Given the description of an element on the screen output the (x, y) to click on. 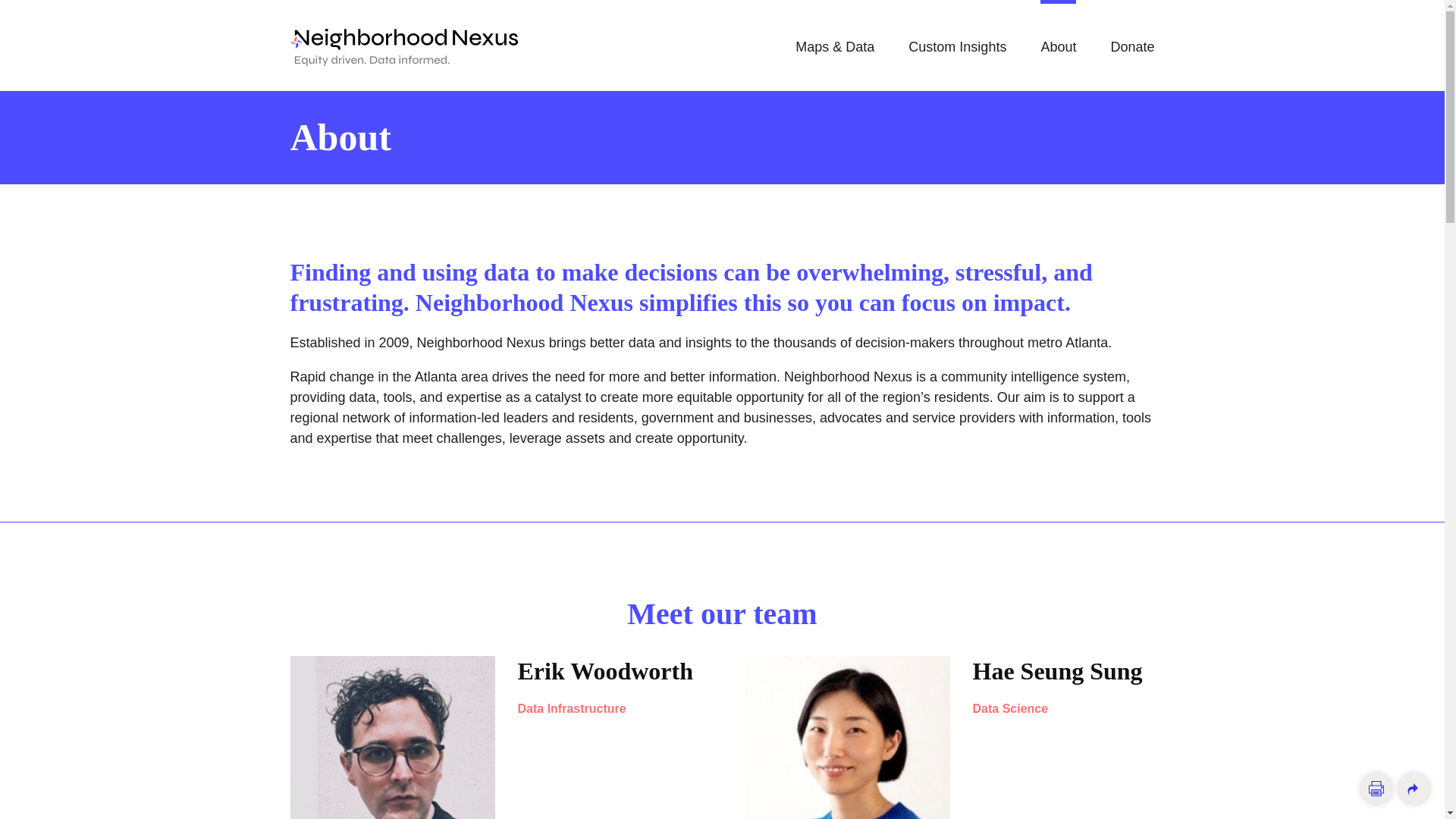
Print (1376, 788)
Custom Insights (957, 45)
Neighborhood Nexus (402, 46)
